Given the description of an element on the screen output the (x, y) to click on. 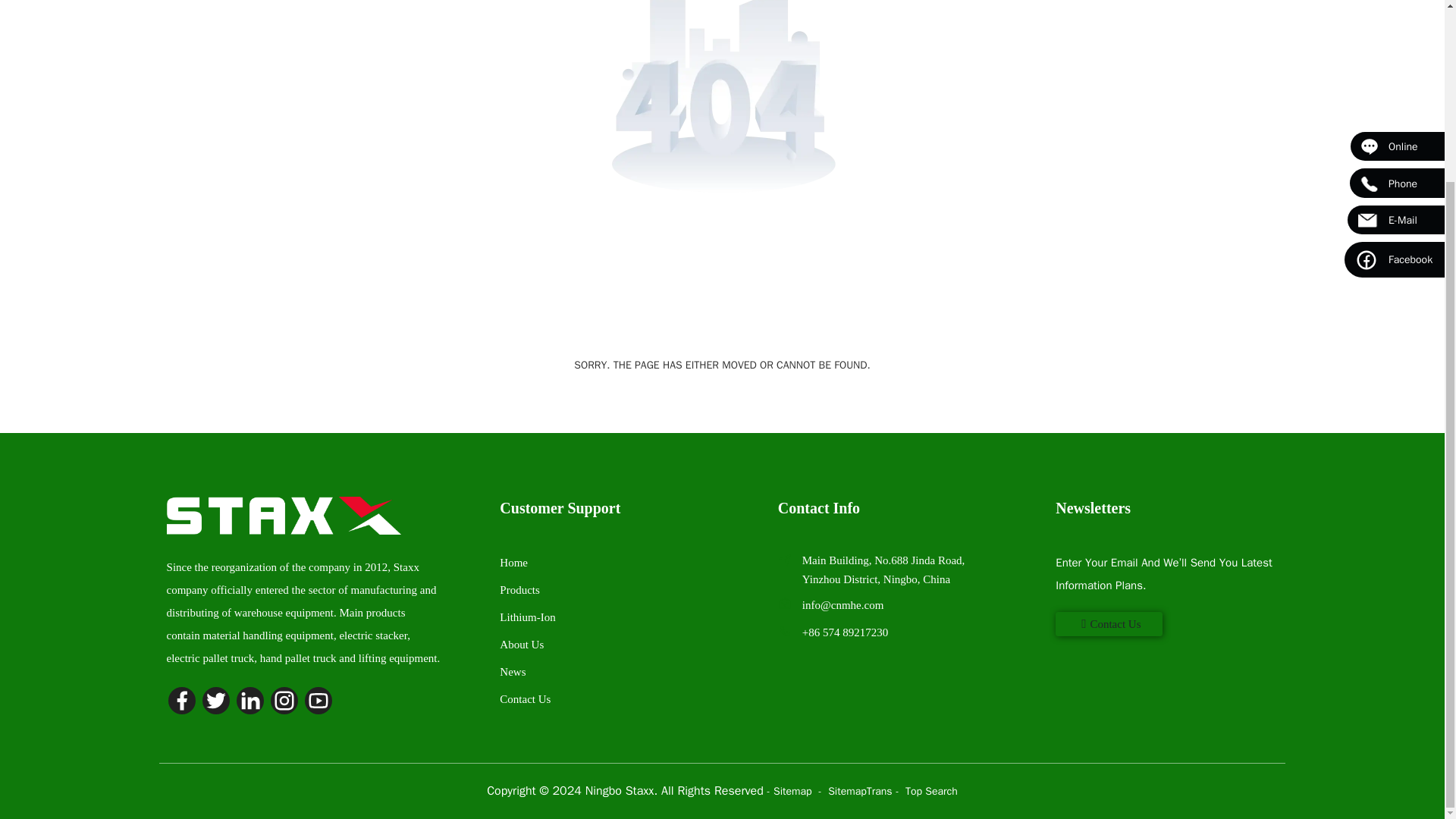
News (512, 671)
E-Mail (1395, 3)
Facebook (1394, 35)
Products (519, 589)
Home (513, 562)
Lithium-Ion (526, 616)
About Us (521, 644)
Contact Us (524, 698)
